Given the description of an element on the screen output the (x, y) to click on. 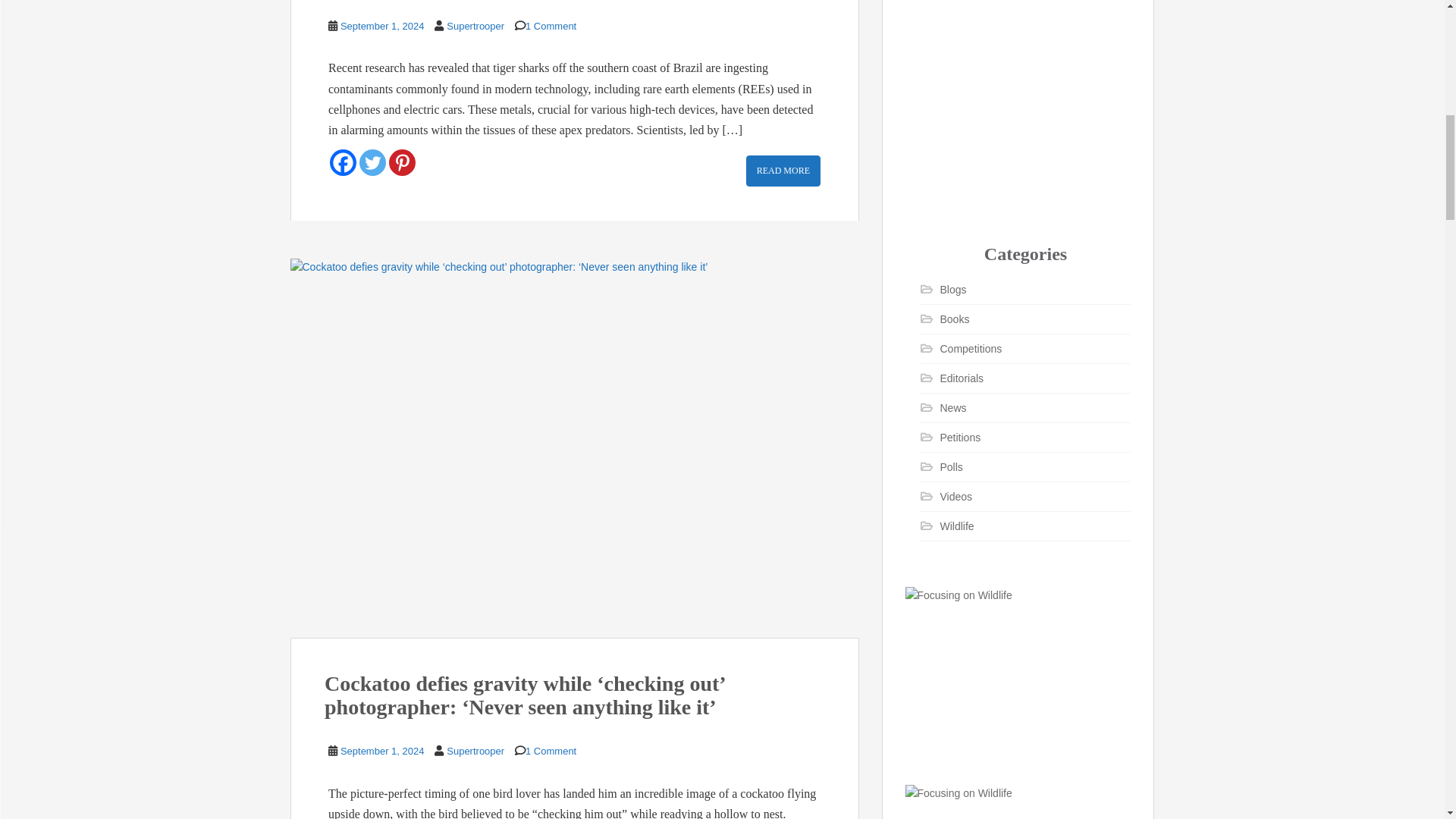
September 1, 2024 (382, 25)
September 1, 2024 (382, 750)
Facebook (343, 162)
1 Comment (550, 25)
Pinterest (401, 162)
1 Comment (550, 750)
Supertrooper (474, 750)
READ MORE (783, 170)
Twitter (372, 162)
